Given the description of an element on the screen output the (x, y) to click on. 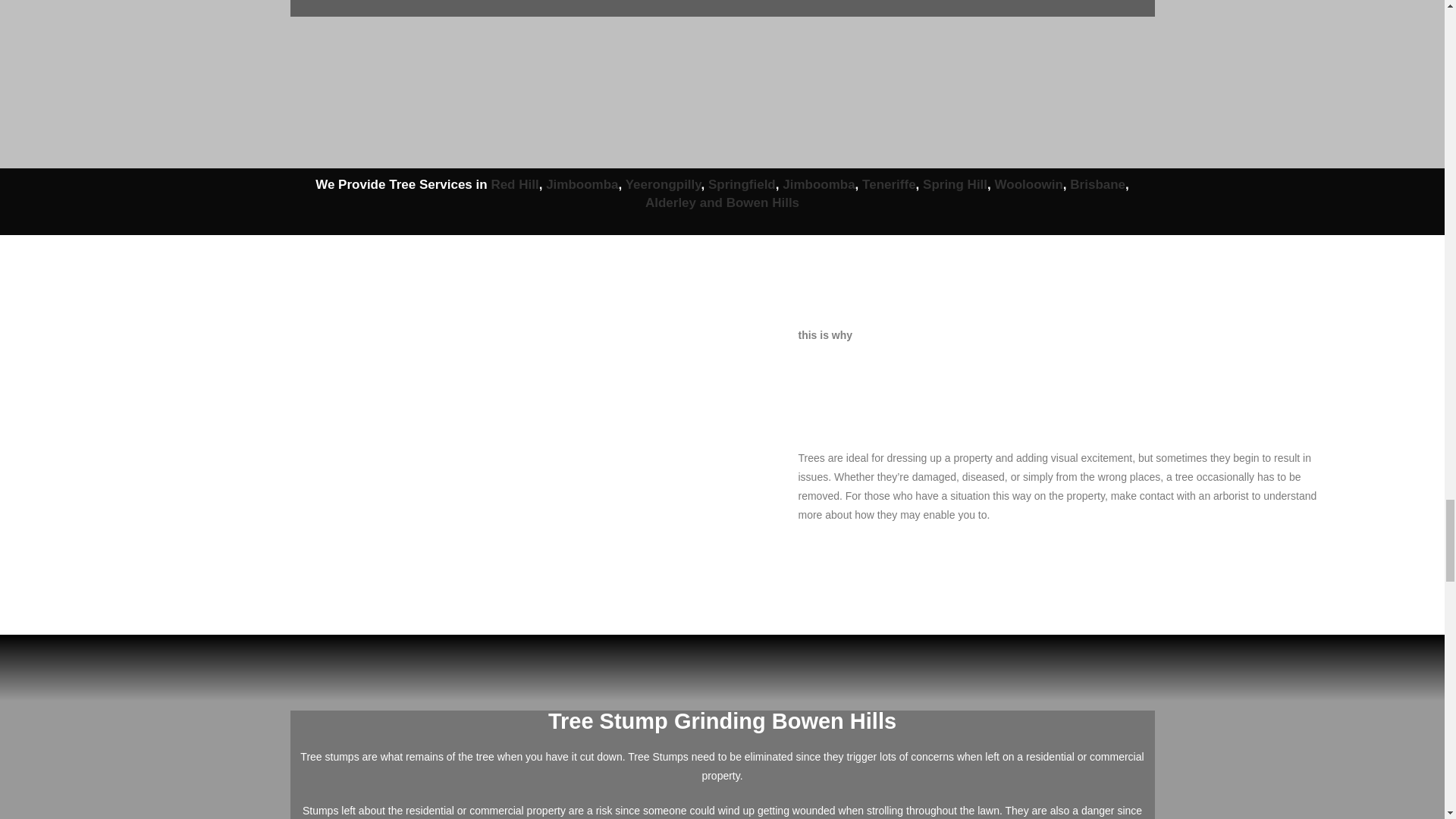
Jimboomba (818, 184)
Spring Hill (955, 184)
Red Hill (514, 184)
Brisbane (1097, 184)
Yeerongpilly (663, 184)
Springfield (741, 184)
Jimboomba (581, 184)
Teneriffe (888, 184)
Alderley (670, 202)
Wooloowin (1028, 184)
